Given the description of an element on the screen output the (x, y) to click on. 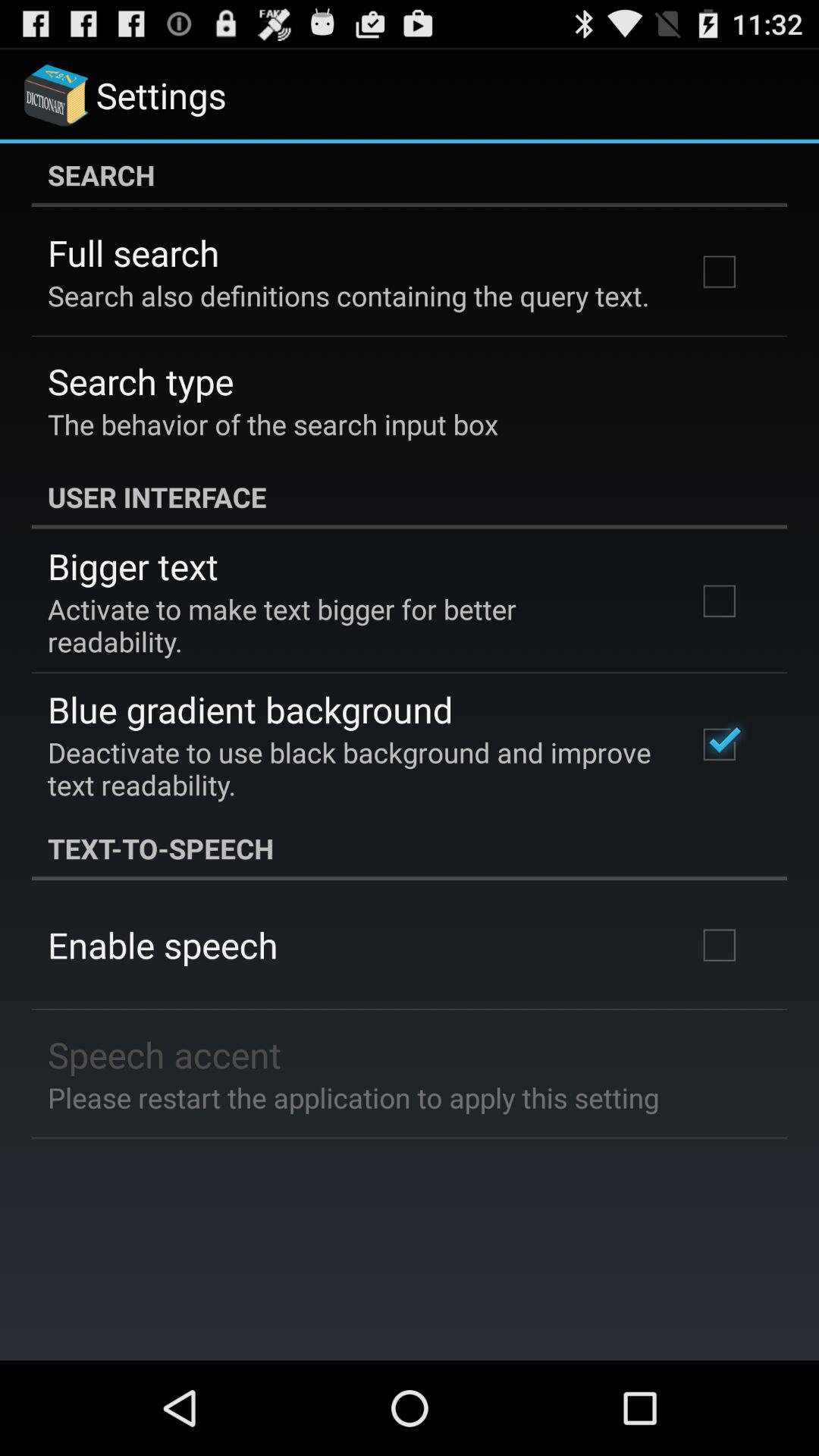
launch the icon above blue gradient background icon (351, 625)
